Given the description of an element on the screen output the (x, y) to click on. 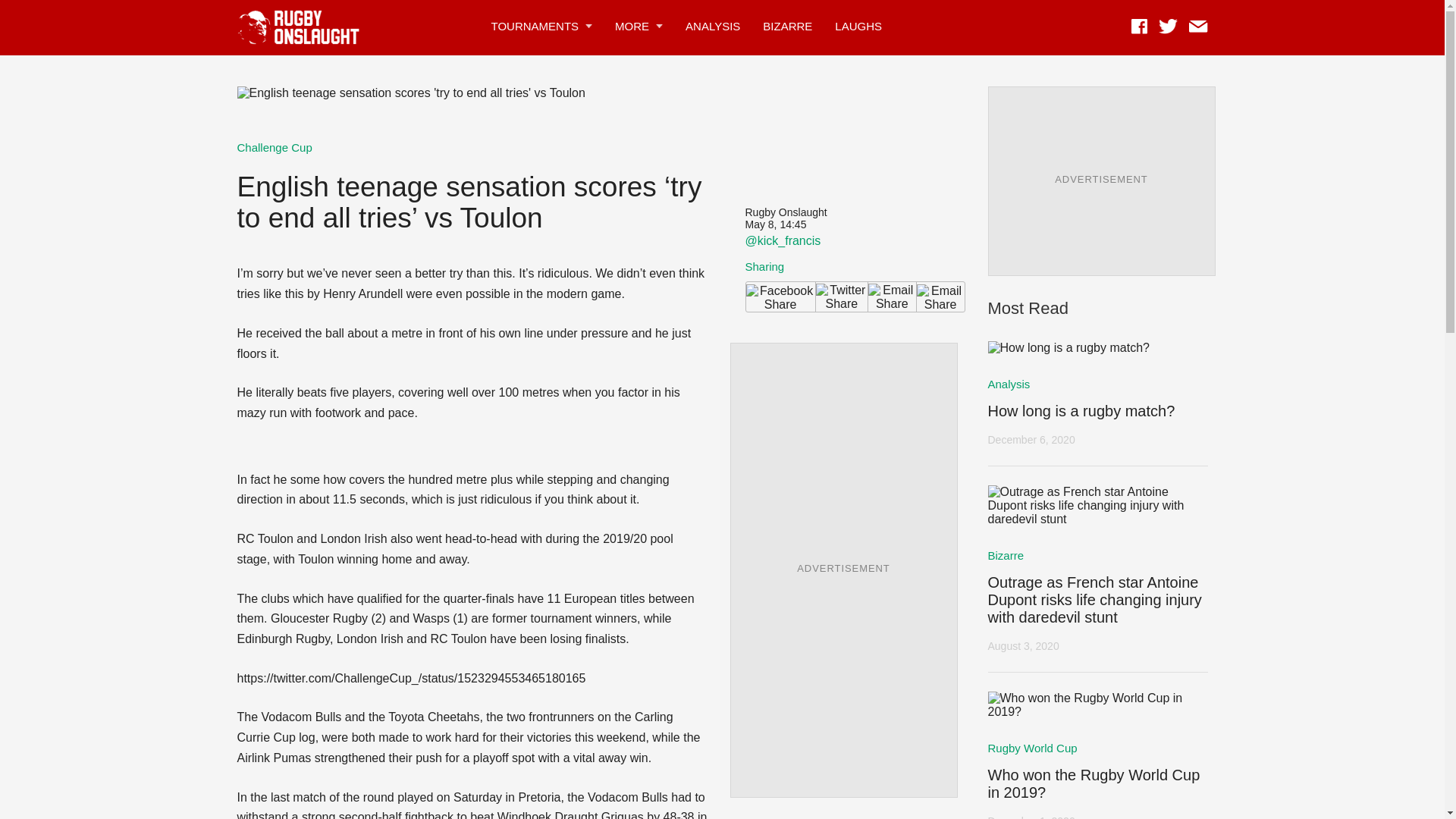
TOURNAMENTS (535, 25)
